Given the description of an element on the screen output the (x, y) to click on. 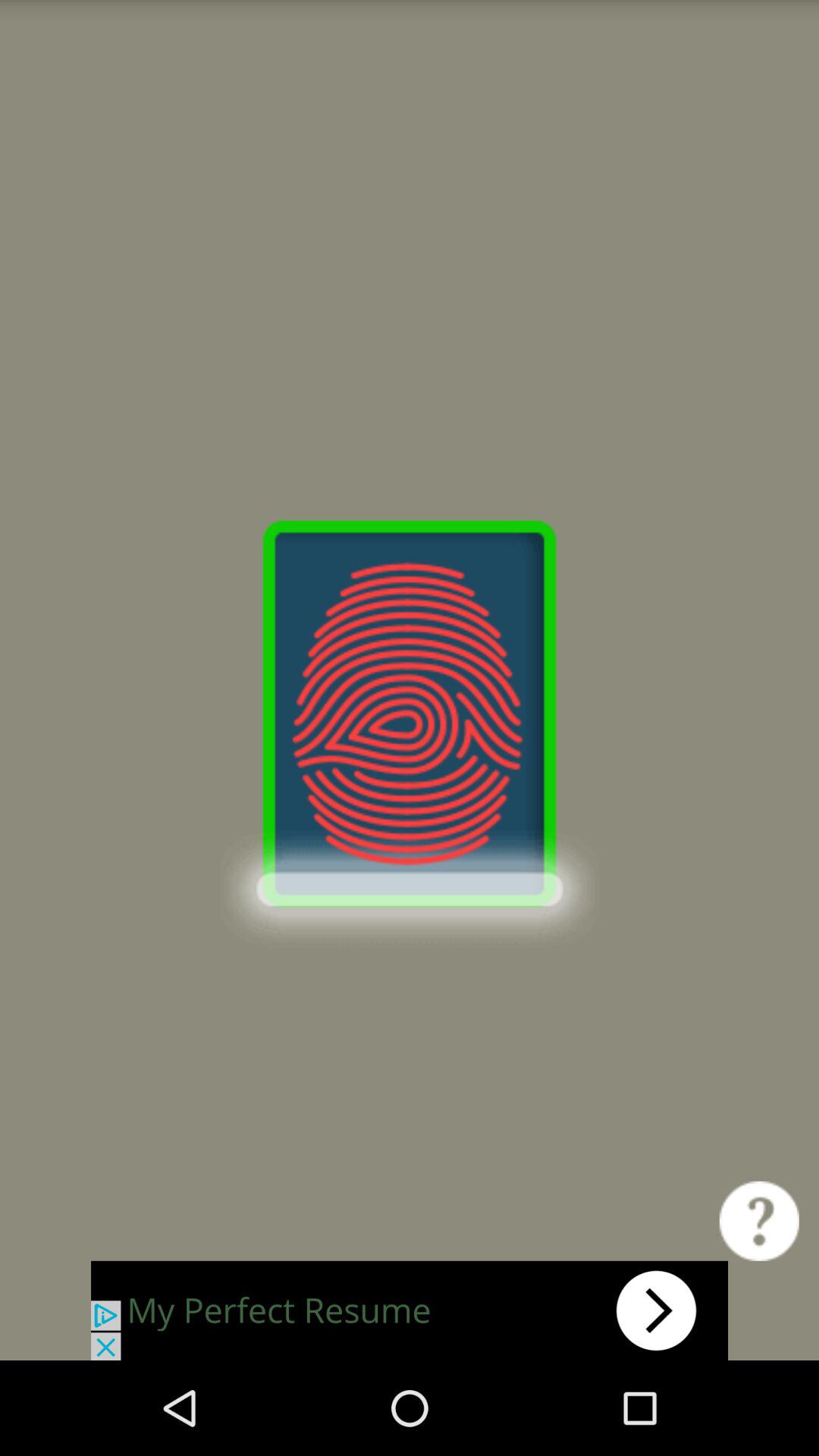
make advertisement (409, 1310)
